Given the description of an element on the screen output the (x, y) to click on. 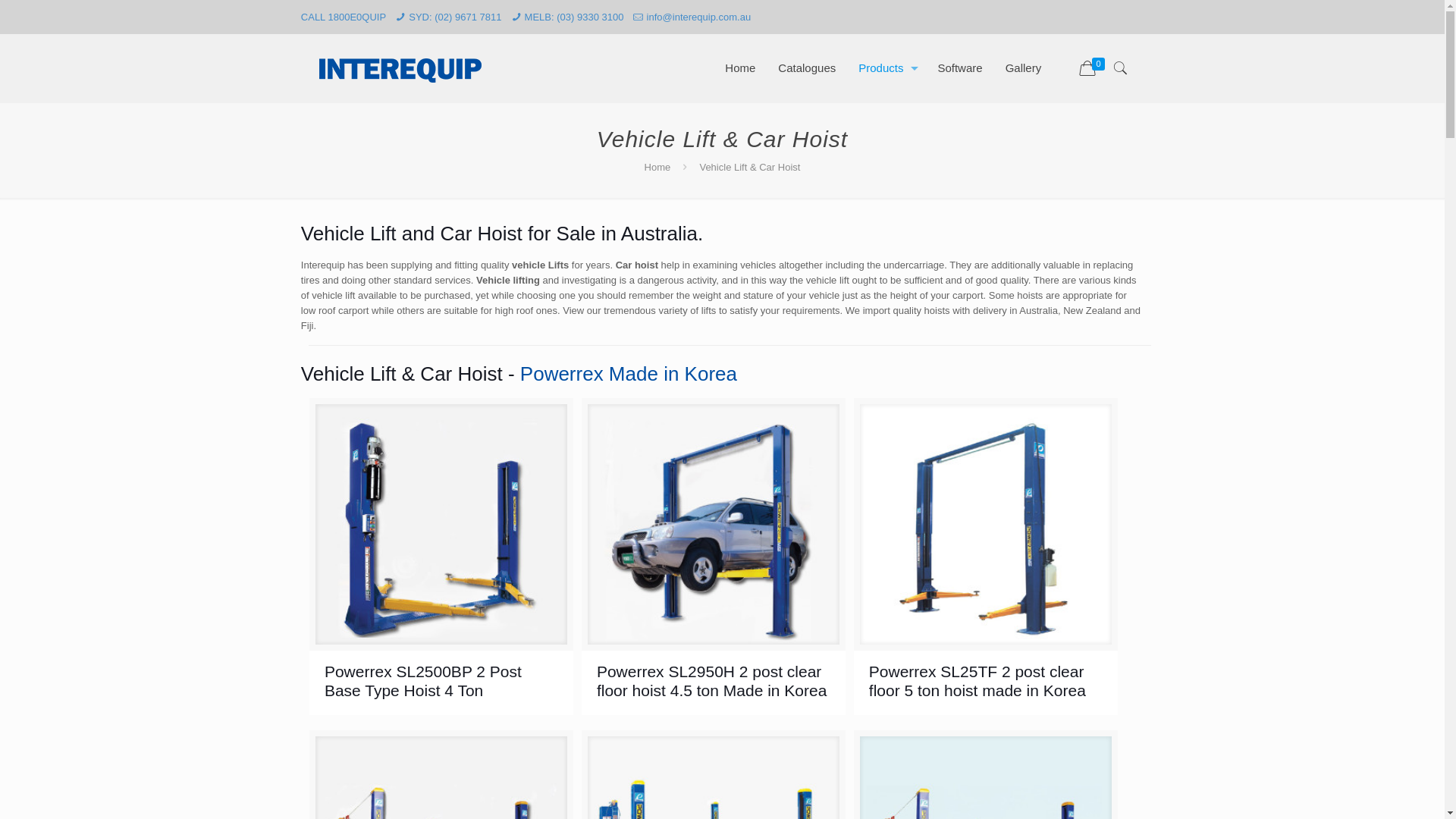
Home Element type: text (739, 68)
Powerrex SL2500BP 2 Post Base Type Hoist 4 Ton Element type: text (422, 680)
Powerrex Made in Korea Element type: text (628, 373)
Powerrex SL2500BP 2 Post Base Type Hoist 4 Ton Element type: hover (441, 529)
Interequip Element type: hover (399, 68)
info@interequip.com.au Element type: text (698, 16)
Software Element type: text (959, 68)
Gallery Element type: text (1023, 68)
Catalogues Element type: text (806, 68)
Powerrex SL25TF 2 post clear floor 5 ton hoist made in Korea Element type: hover (985, 529)
0 Element type: text (1093, 68)
SYD: (02) 9671 7811 Element type: text (454, 16)
Home Element type: text (657, 166)
Powerrex SL25TF 2 post clear floor 5 ton hoist made in Korea Element type: text (977, 680)
MELB: (03) 9330 3100 Element type: text (574, 16)
Products Element type: text (886, 68)
